Given the description of an element on the screen output the (x, y) to click on. 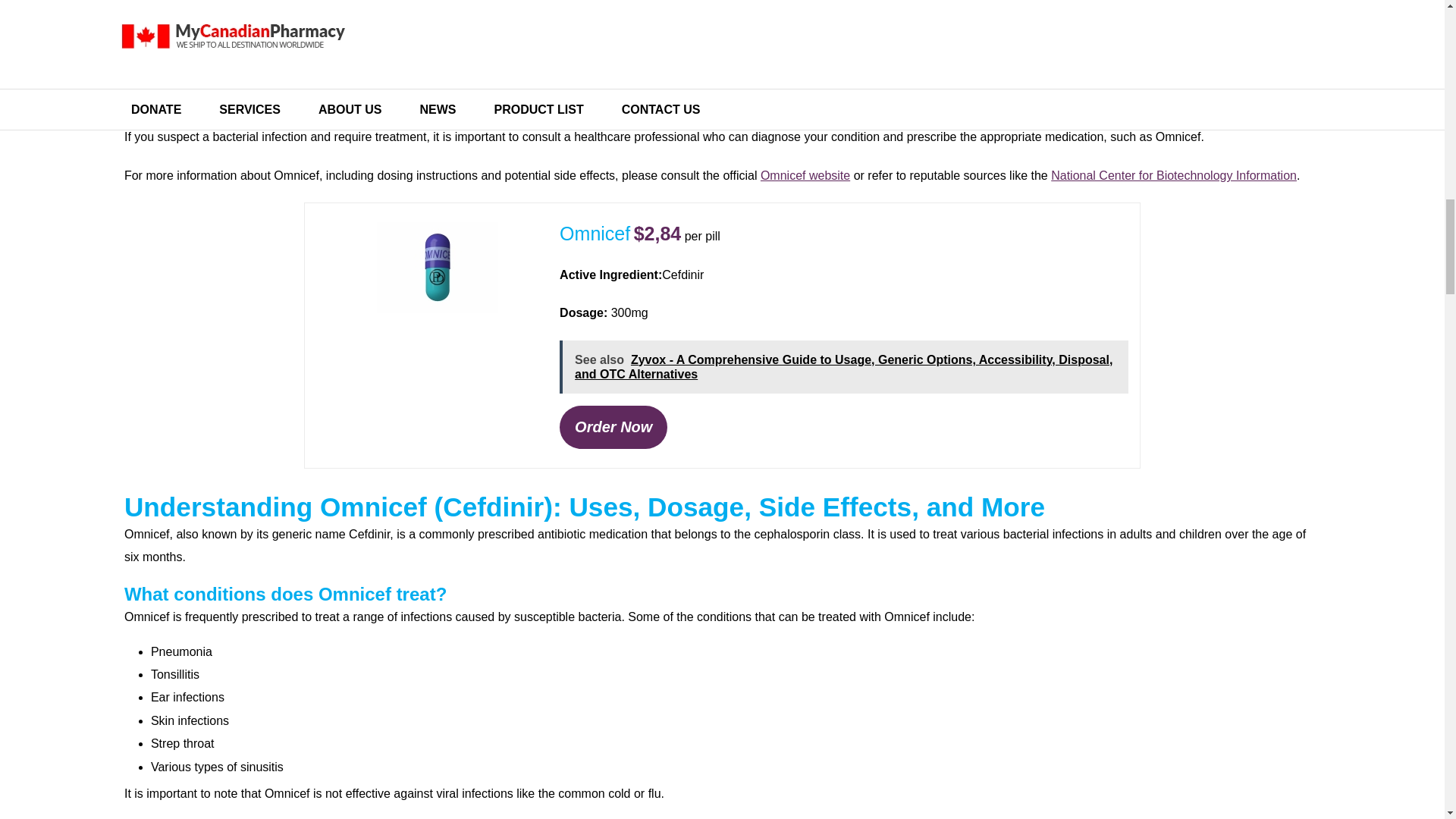
National Center for Biotechnology Information (1174, 174)
Omnicef website (805, 174)
Order Now (612, 426)
